Given the description of an element on the screen output the (x, y) to click on. 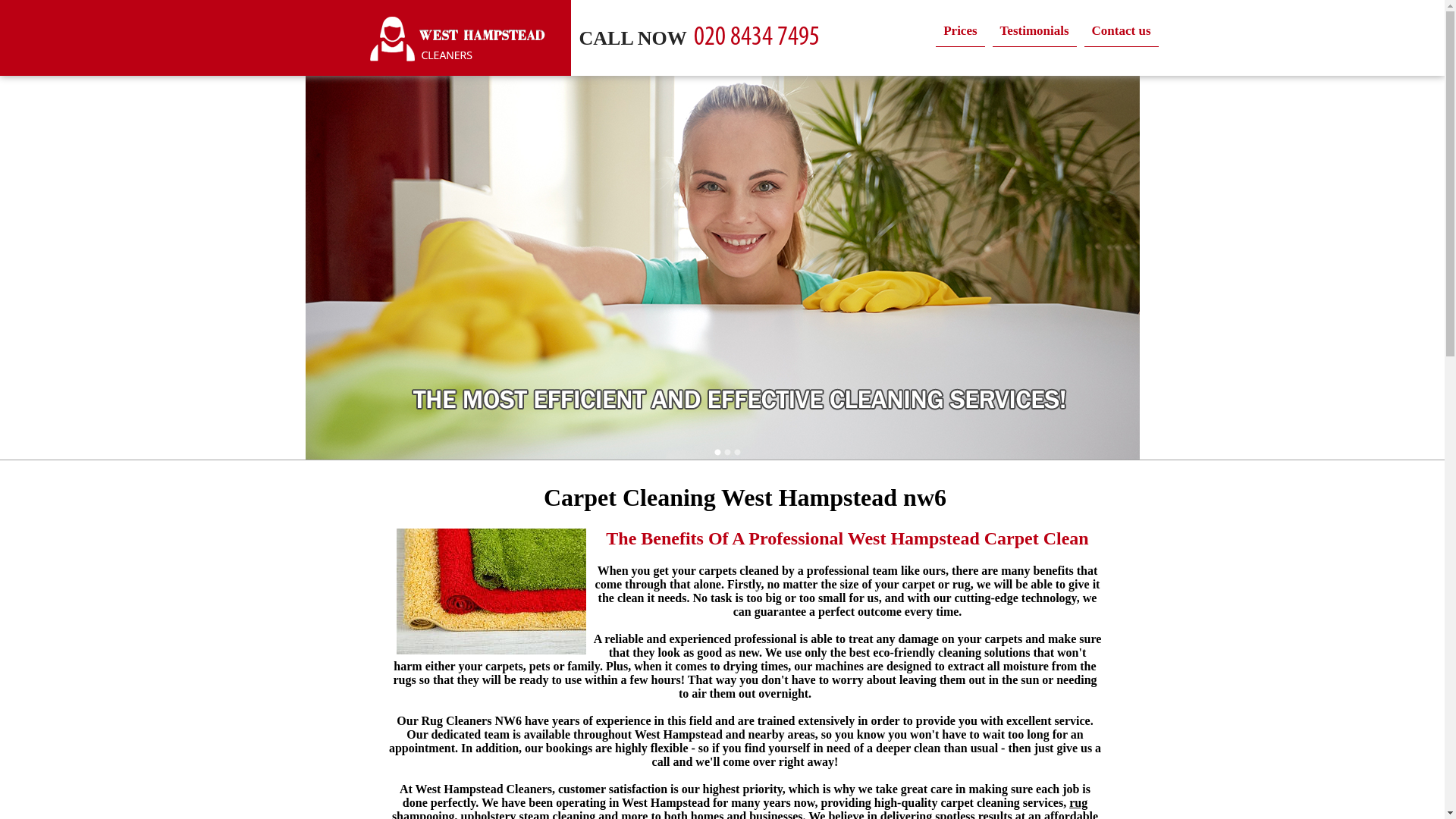
2 (726, 451)
2 (726, 451)
3 (737, 451)
Testimonials (1034, 30)
1 (717, 451)
Contact us (1121, 30)
1 (717, 451)
Prices (960, 30)
3 (737, 451)
CALL NOW (708, 35)
